Given the description of an element on the screen output the (x, y) to click on. 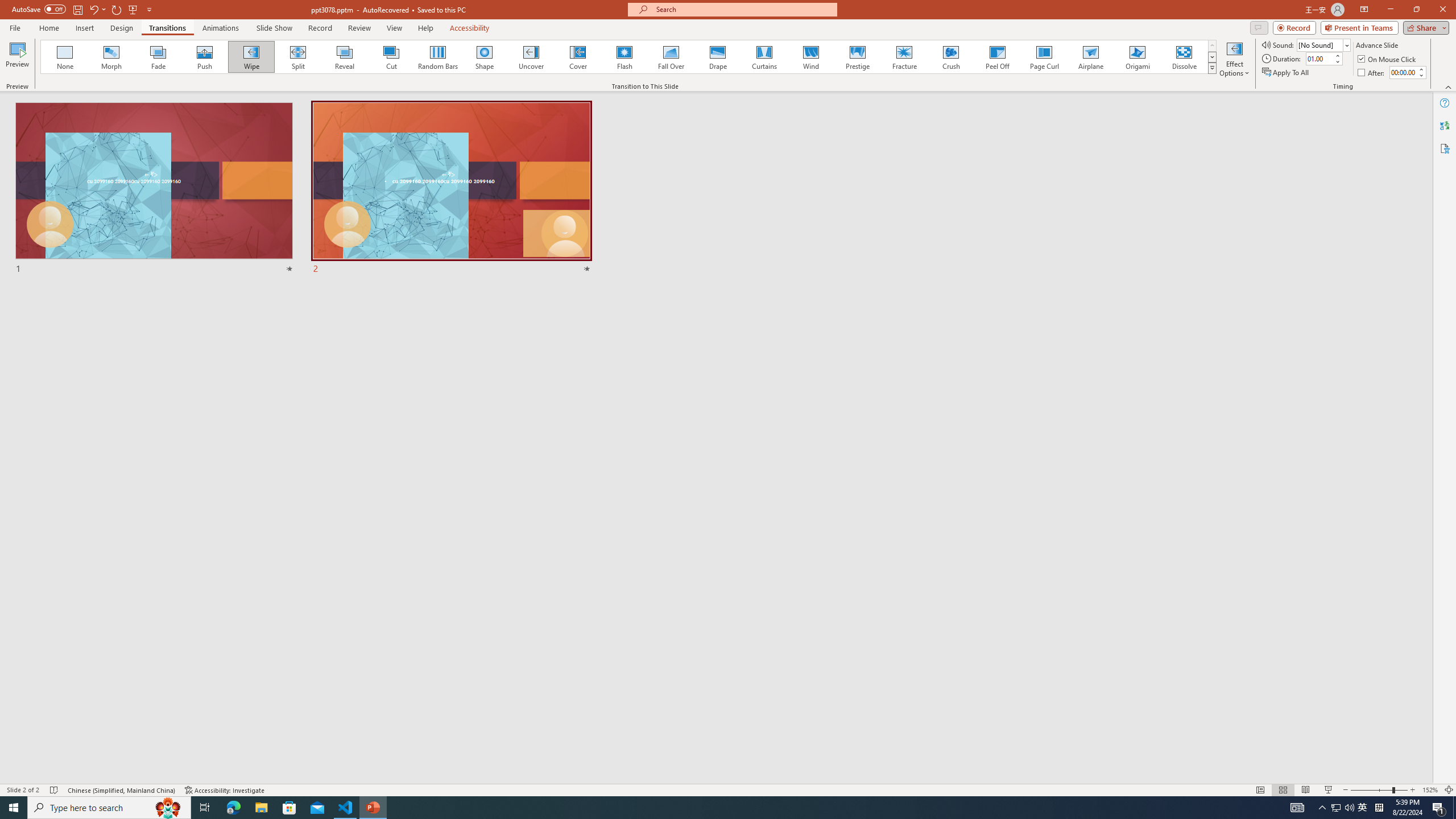
Wind (810, 56)
Cover (577, 56)
Reveal (344, 56)
Drape (717, 56)
Peel Off (997, 56)
